Given the description of an element on the screen output the (x, y) to click on. 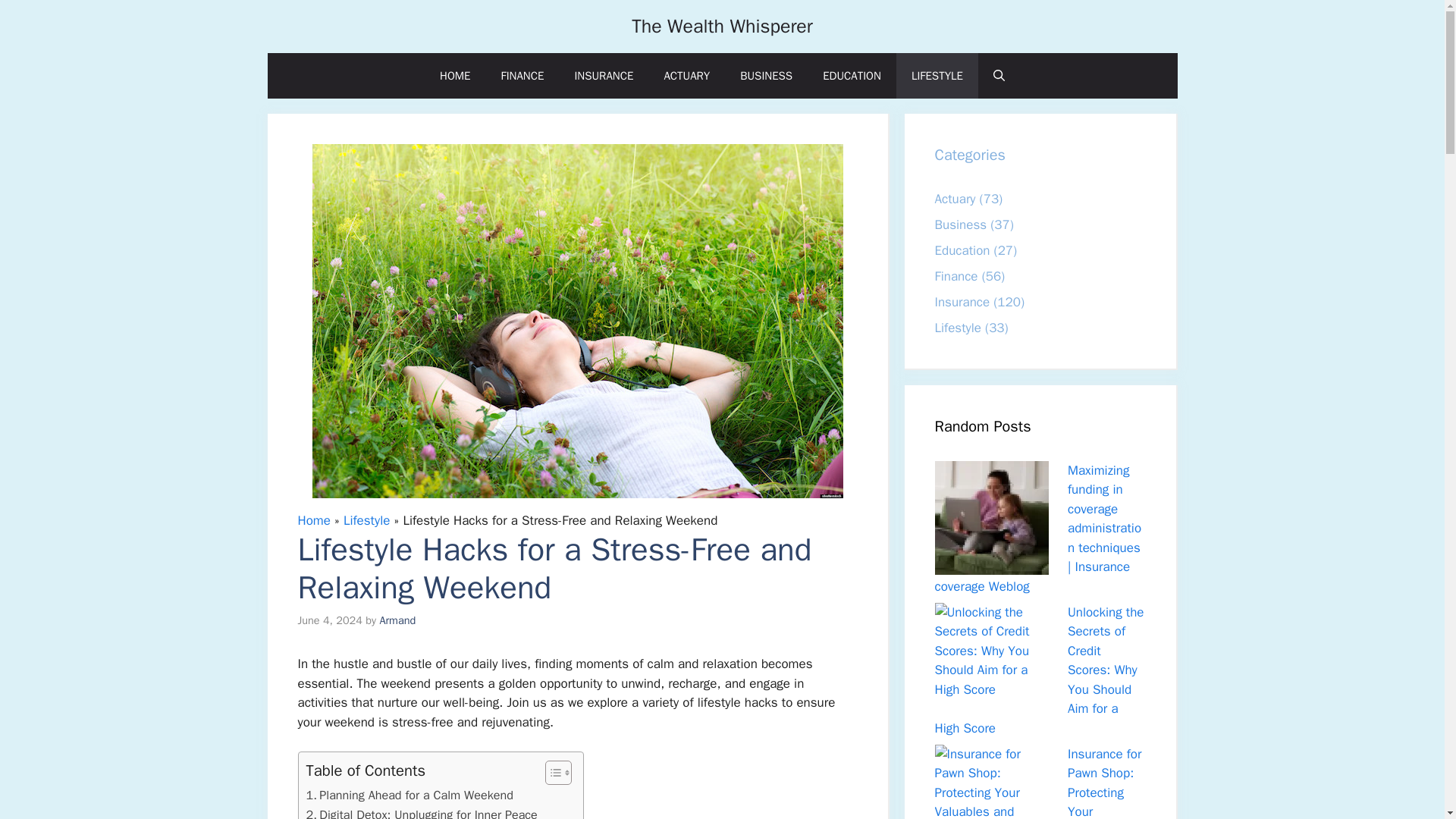
ACTUARY (686, 75)
EDUCATION (852, 75)
Digital Detox: Unplugging for Inner Peace (421, 812)
FINANCE (521, 75)
View all posts by Armand (396, 619)
BUSINESS (766, 75)
The Wealth Whisperer (721, 25)
INSURANCE (603, 75)
HOME (454, 75)
